Given the description of an element on the screen output the (x, y) to click on. 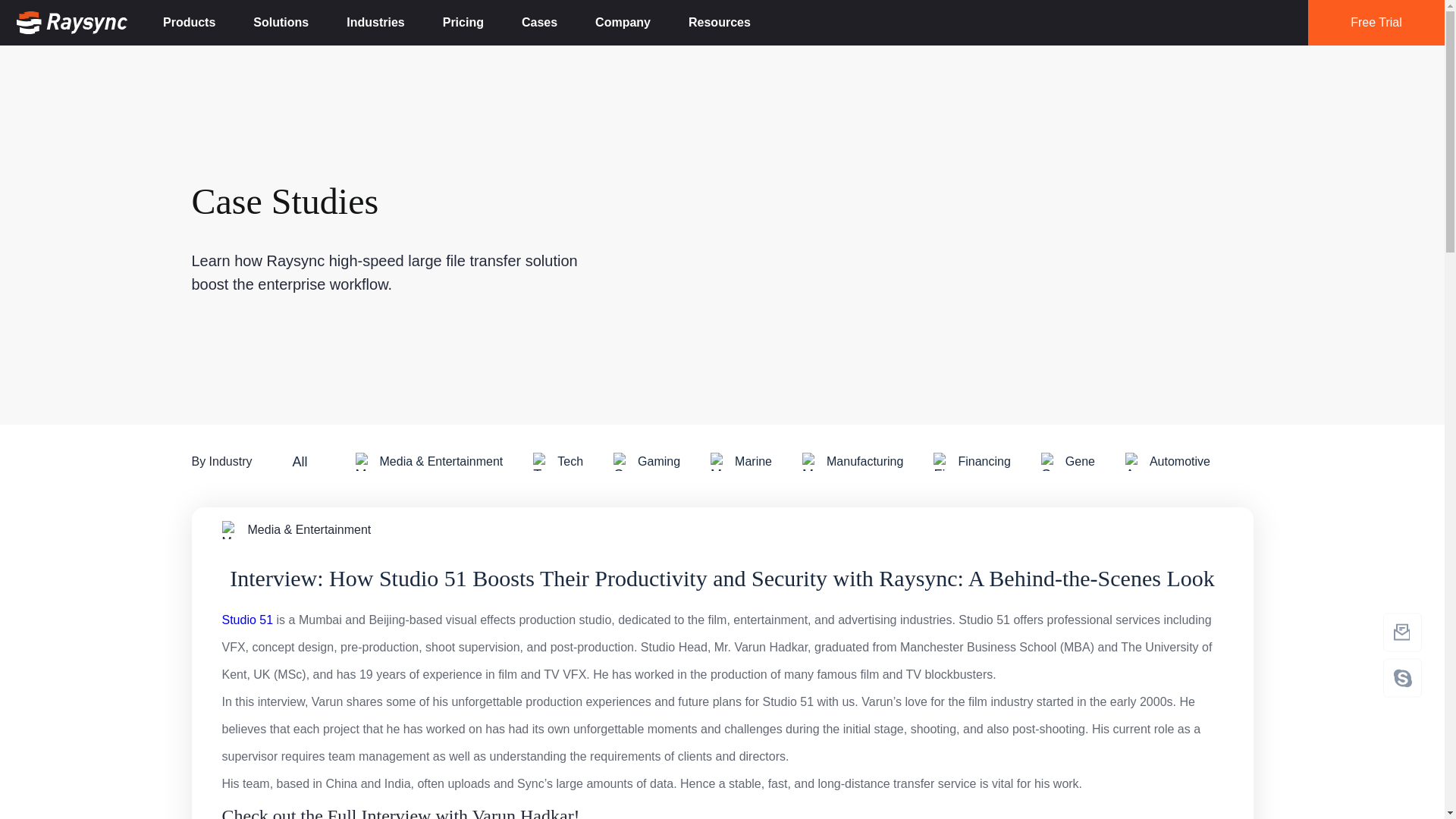
Studio 51 (247, 619)
Tech (558, 461)
Financing (971, 461)
Marine (741, 461)
Gene (1067, 461)
Automotive (1168, 461)
All (300, 461)
Pricing (462, 22)
Raysync (71, 22)
Manufacturing (852, 461)
Gaming (647, 461)
